Given the description of an element on the screen output the (x, y) to click on. 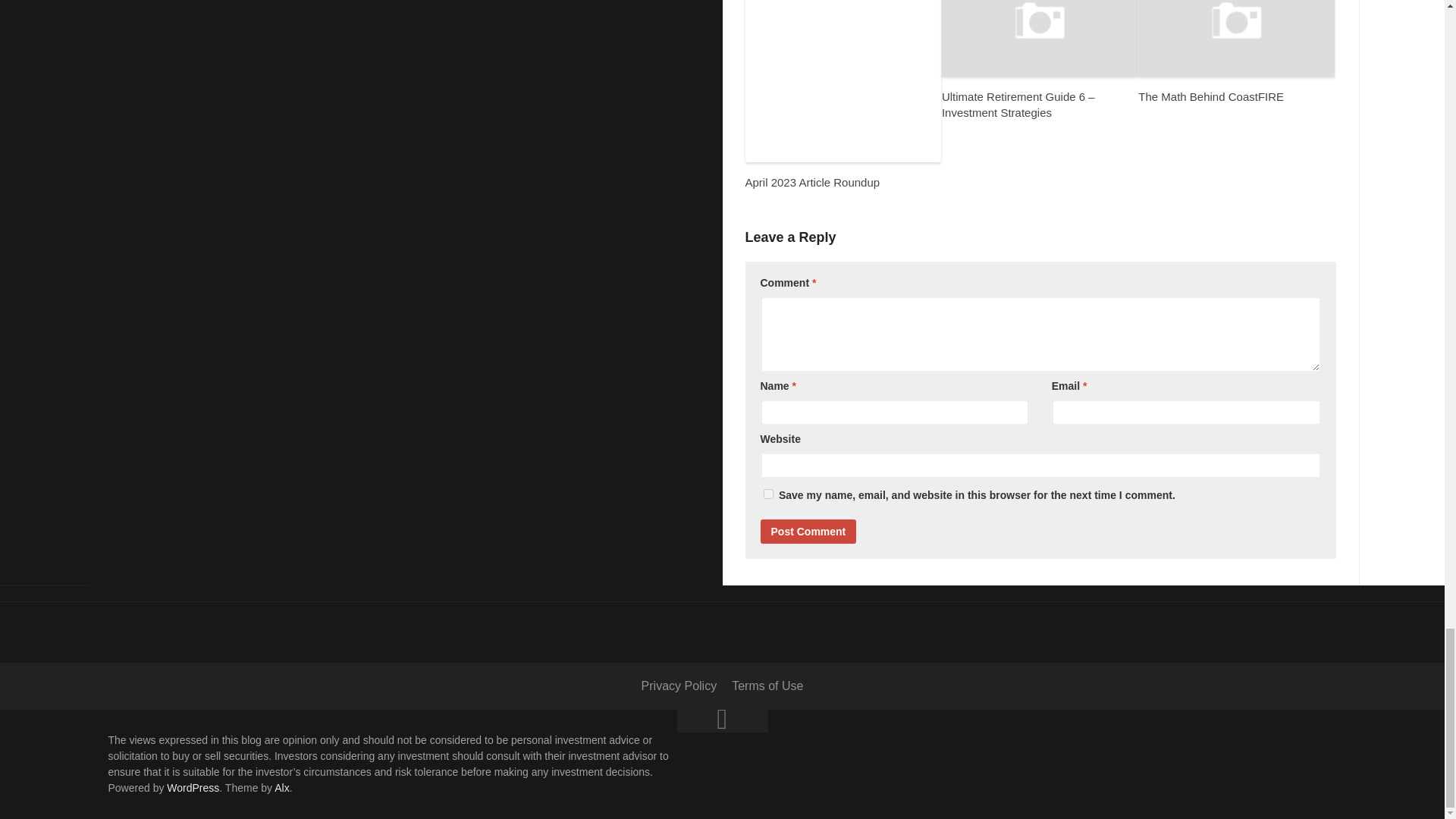
Post Comment (808, 531)
The Math Behind CoastFIRE (1211, 96)
yes (767, 493)
Post Comment (808, 531)
April 2023 Article Roundup (811, 182)
